Given the description of an element on the screen output the (x, y) to click on. 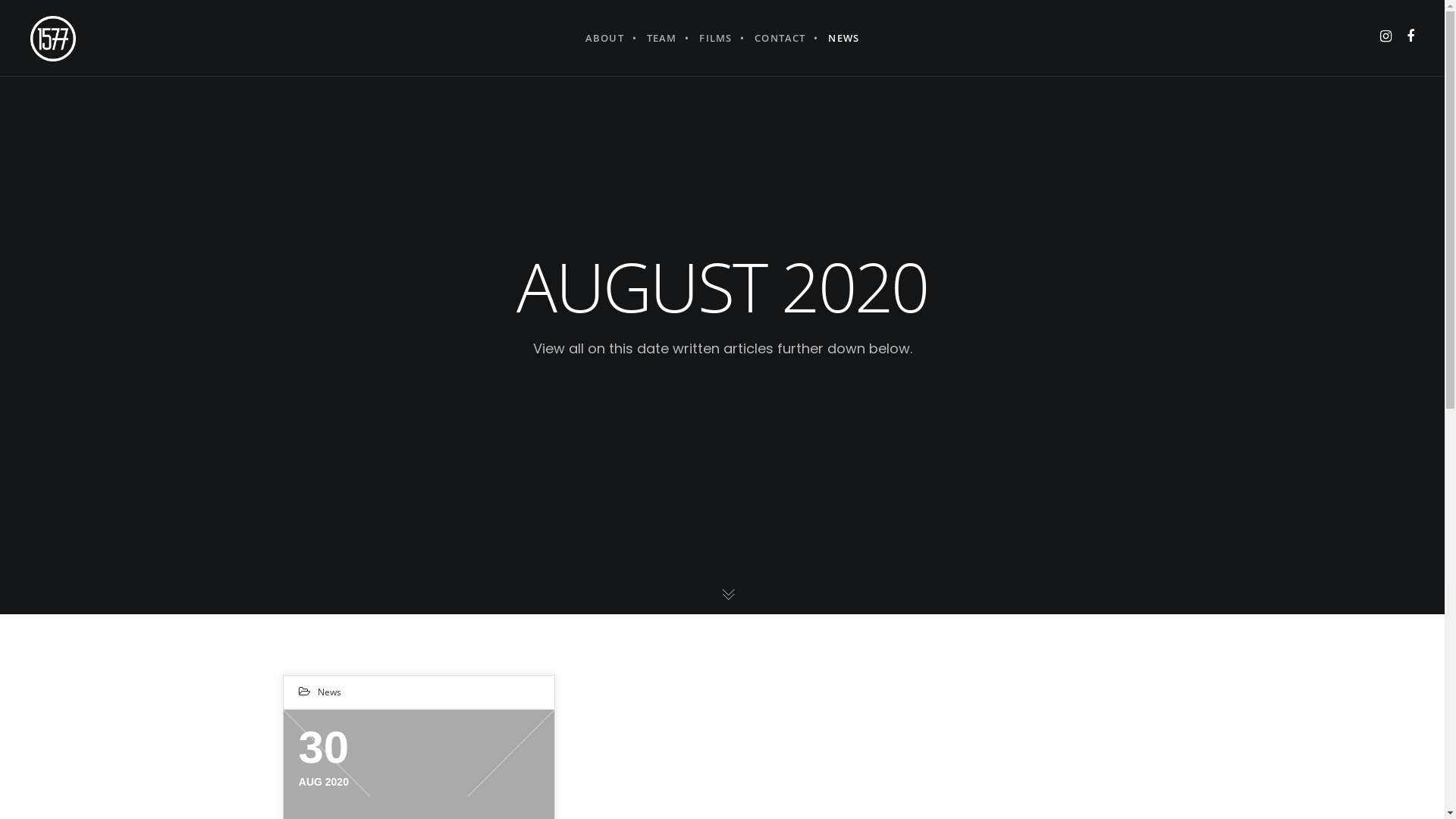
News Element type: text (328, 691)
FILMS Element type: text (715, 37)
ABOUT Element type: text (604, 37)
TEAM Element type: text (661, 37)
NEWS Element type: text (843, 37)
CONTACT Element type: text (779, 37)
